Given the description of an element on the screen output the (x, y) to click on. 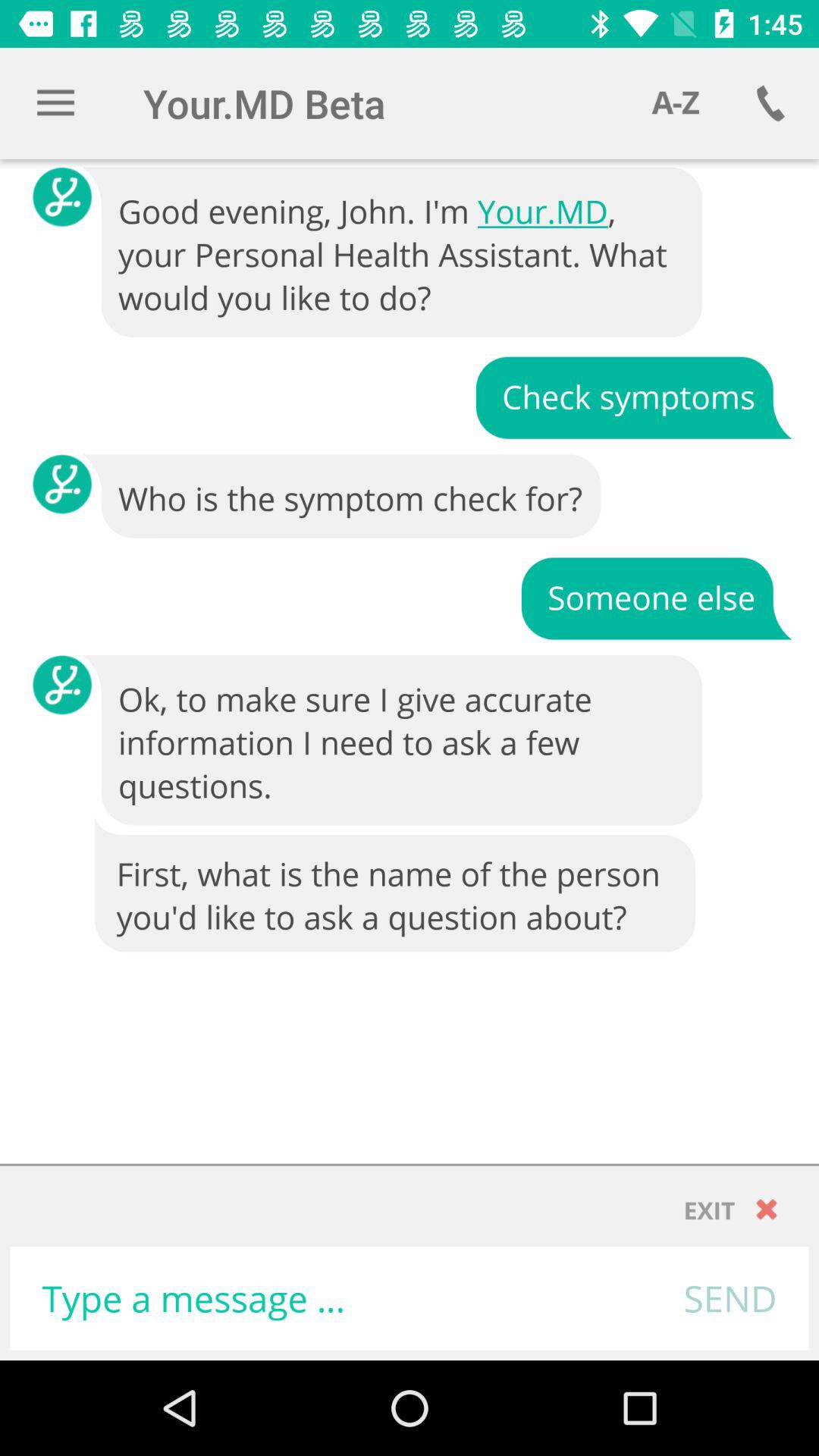
select item to the right of your.md beta icon (675, 103)
